Given the description of an element on the screen output the (x, y) to click on. 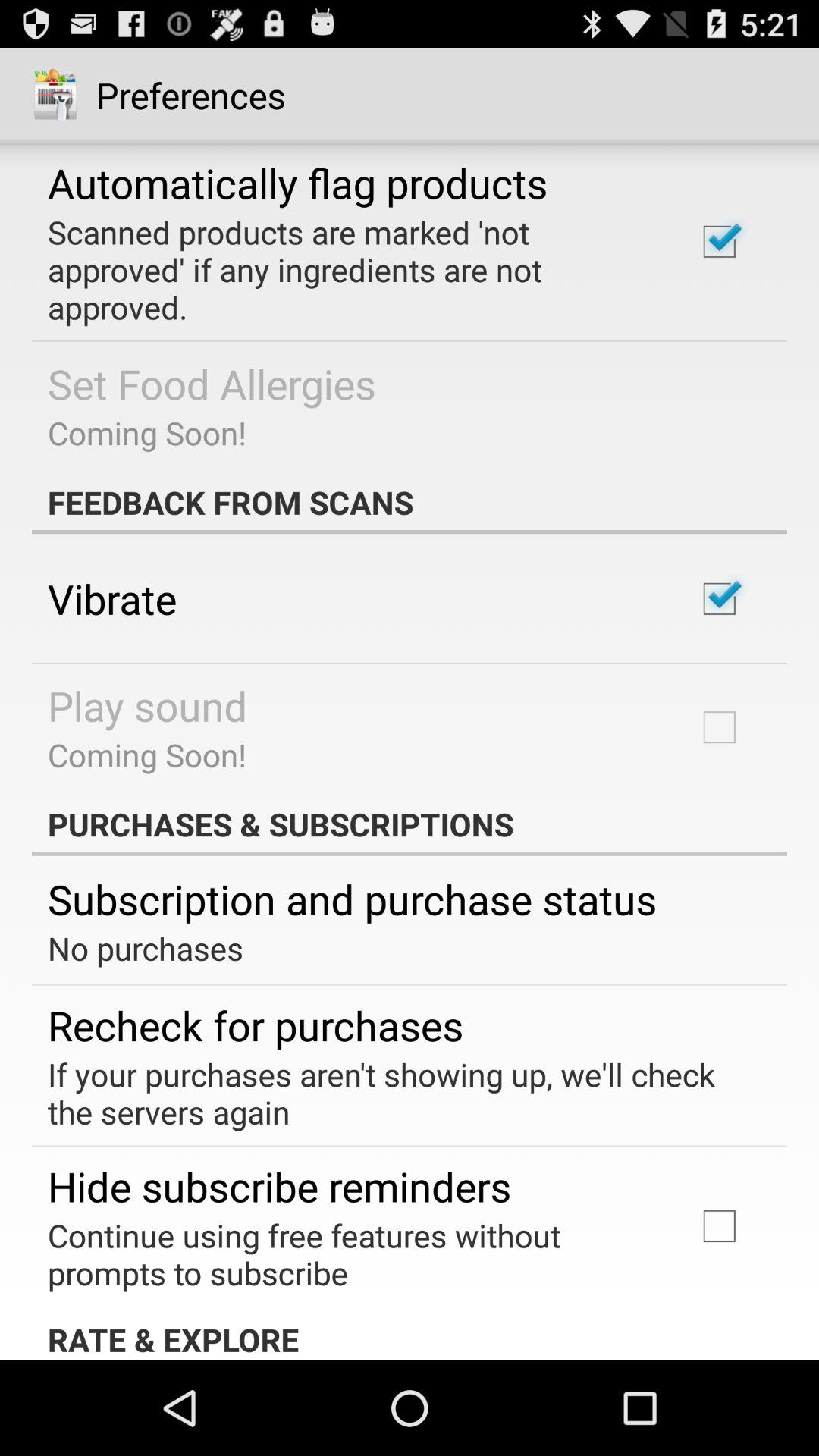
open if your purchases item (399, 1092)
